Given the description of an element on the screen output the (x, y) to click on. 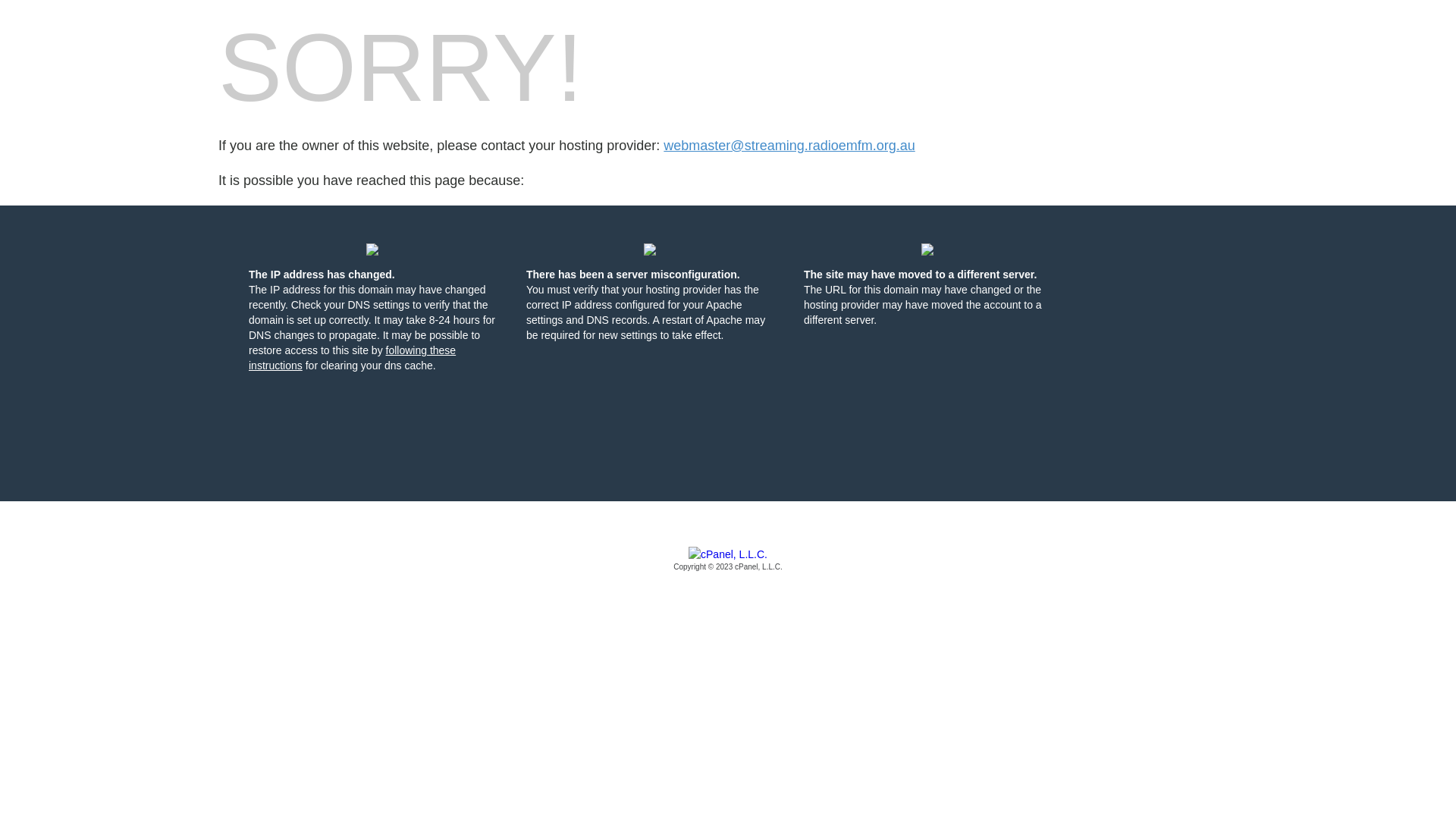
webmaster@streaming.radioemfm.org.au Element type: text (788, 145)
following these instructions Element type: text (351, 357)
